Given the description of an element on the screen output the (x, y) to click on. 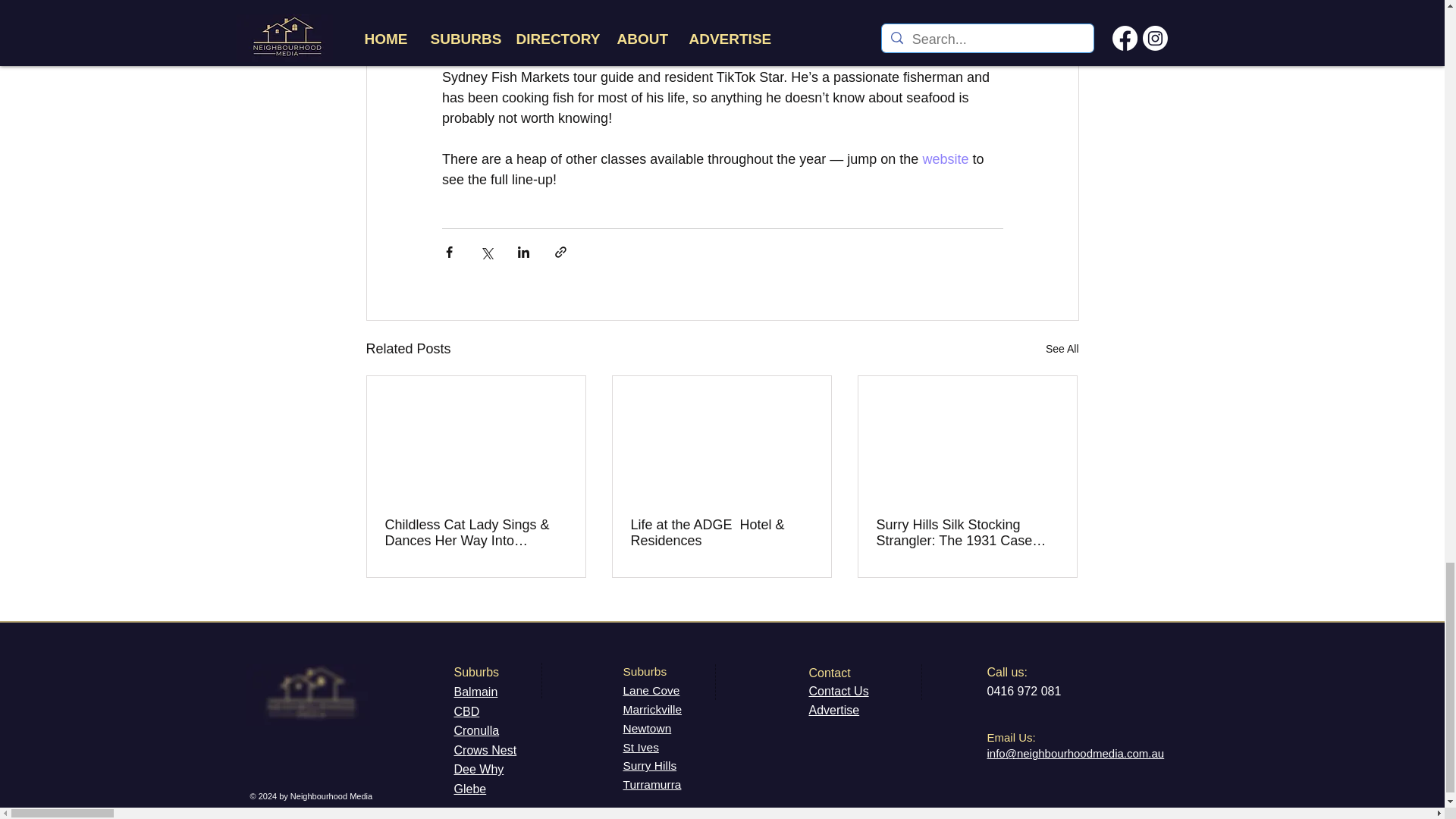
Balmain (474, 691)
website (944, 159)
See All (1061, 349)
